Given the description of an element on the screen output the (x, y) to click on. 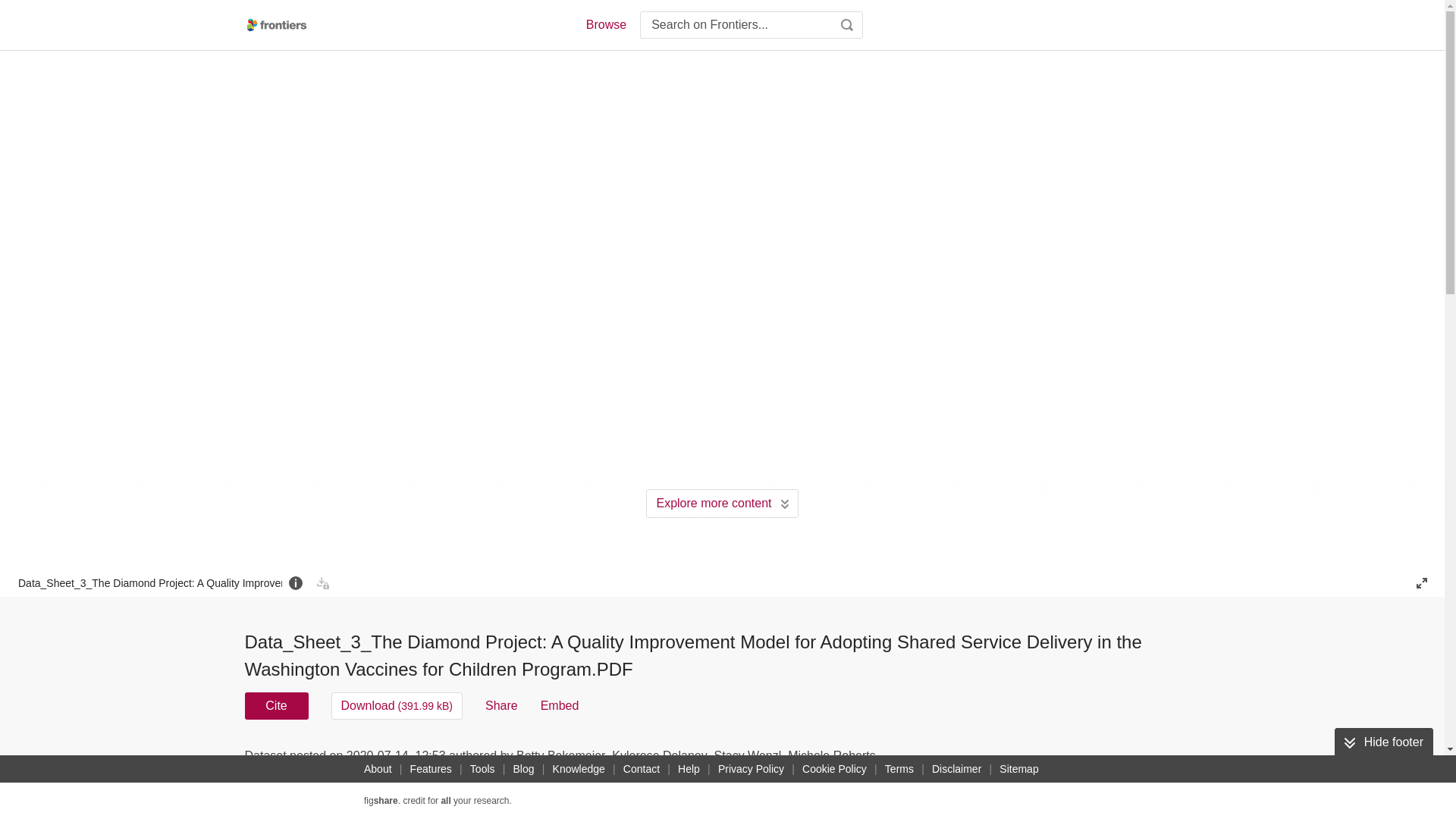
Cite (275, 705)
Explore more content (721, 502)
USAGE METRICS (976, 759)
Browse (605, 24)
Share (501, 705)
Embed (559, 705)
